Given the description of an element on the screen output the (x, y) to click on. 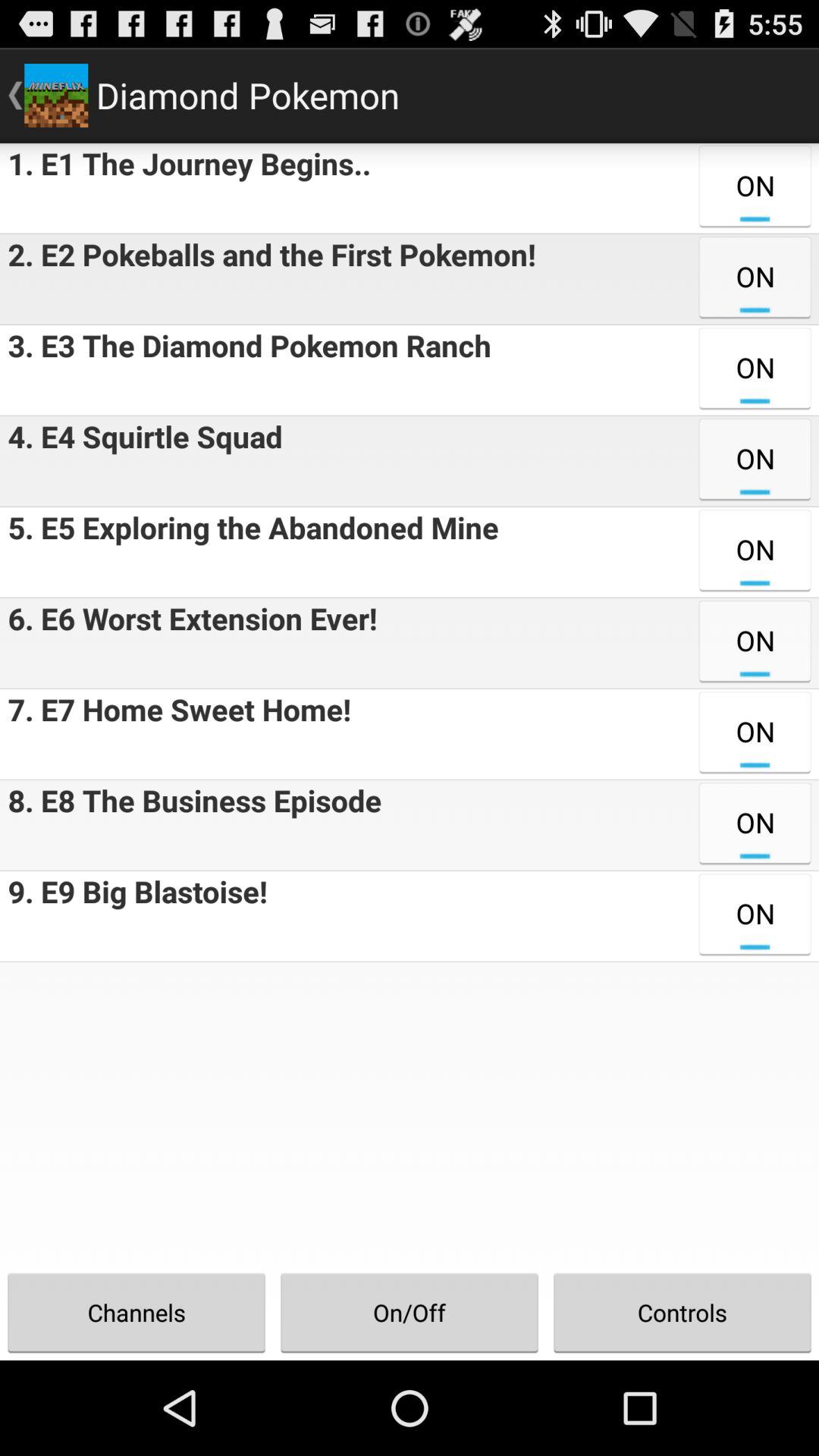
select the icon to the left of on item (141, 461)
